Given the description of an element on the screen output the (x, y) to click on. 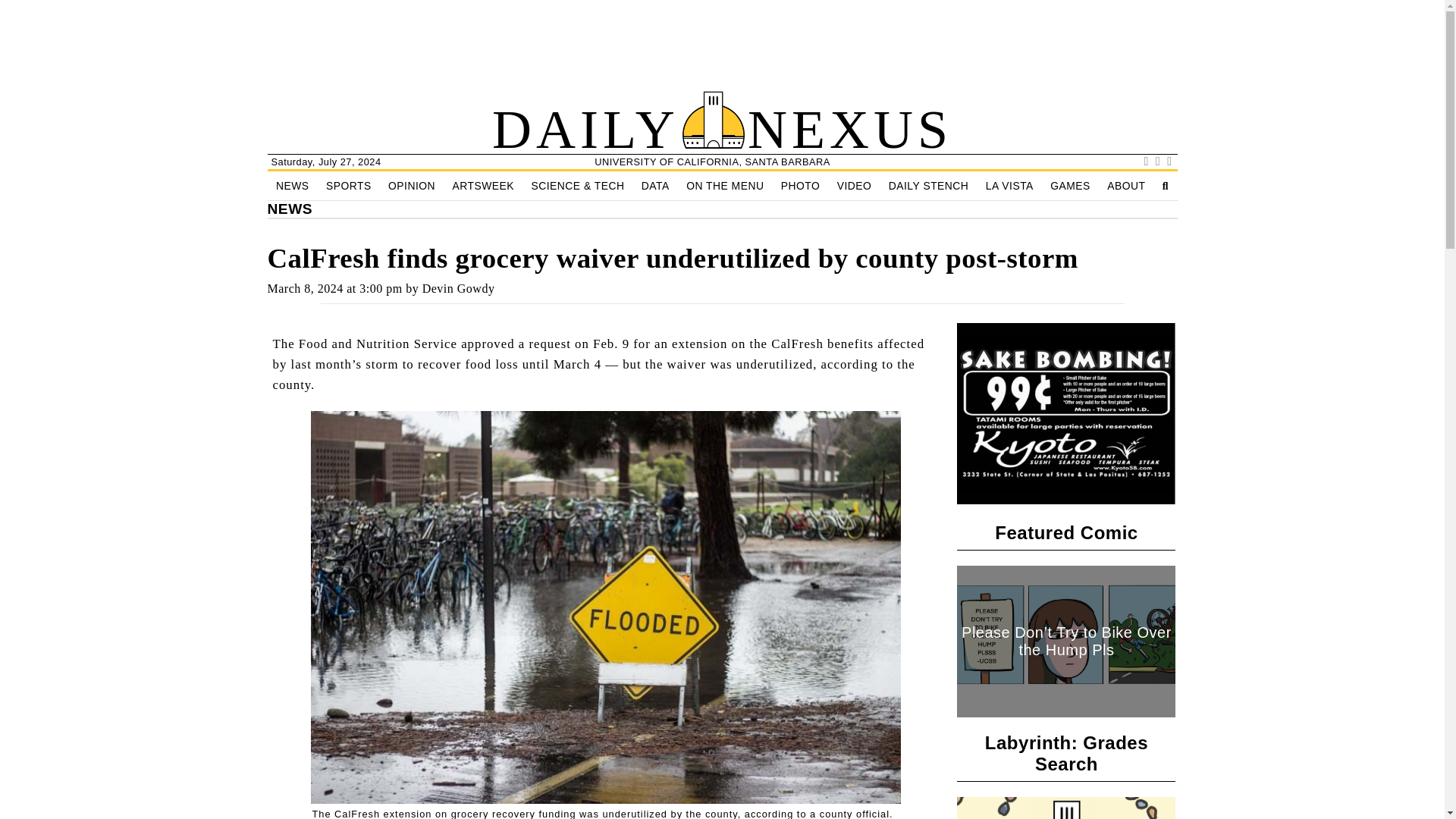
Posts by Devin Gowdy (458, 287)
